Given the description of an element on the screen output the (x, y) to click on. 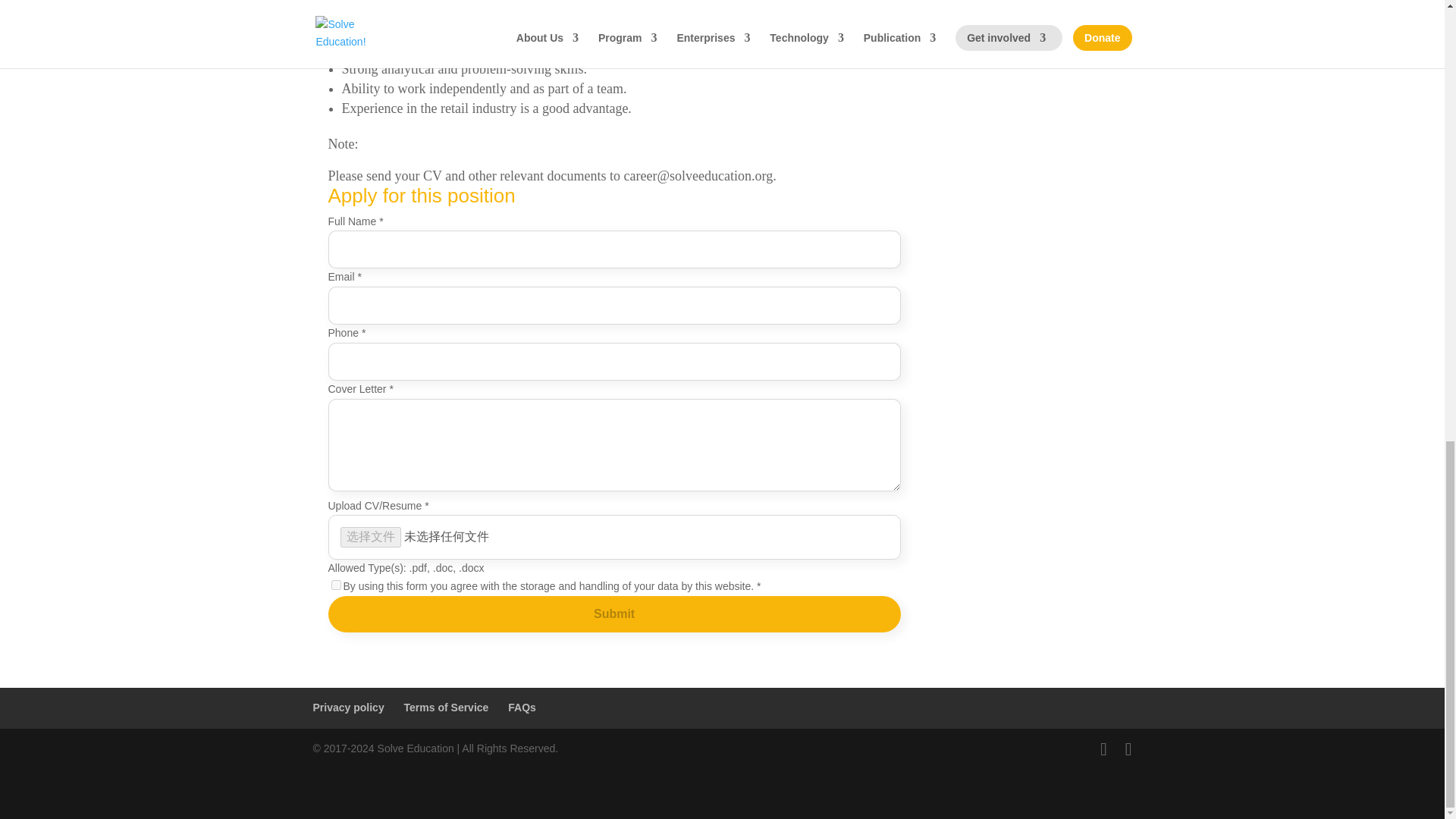
yes (335, 584)
Submit (613, 614)
Submit (613, 614)
